Given the description of an element on the screen output the (x, y) to click on. 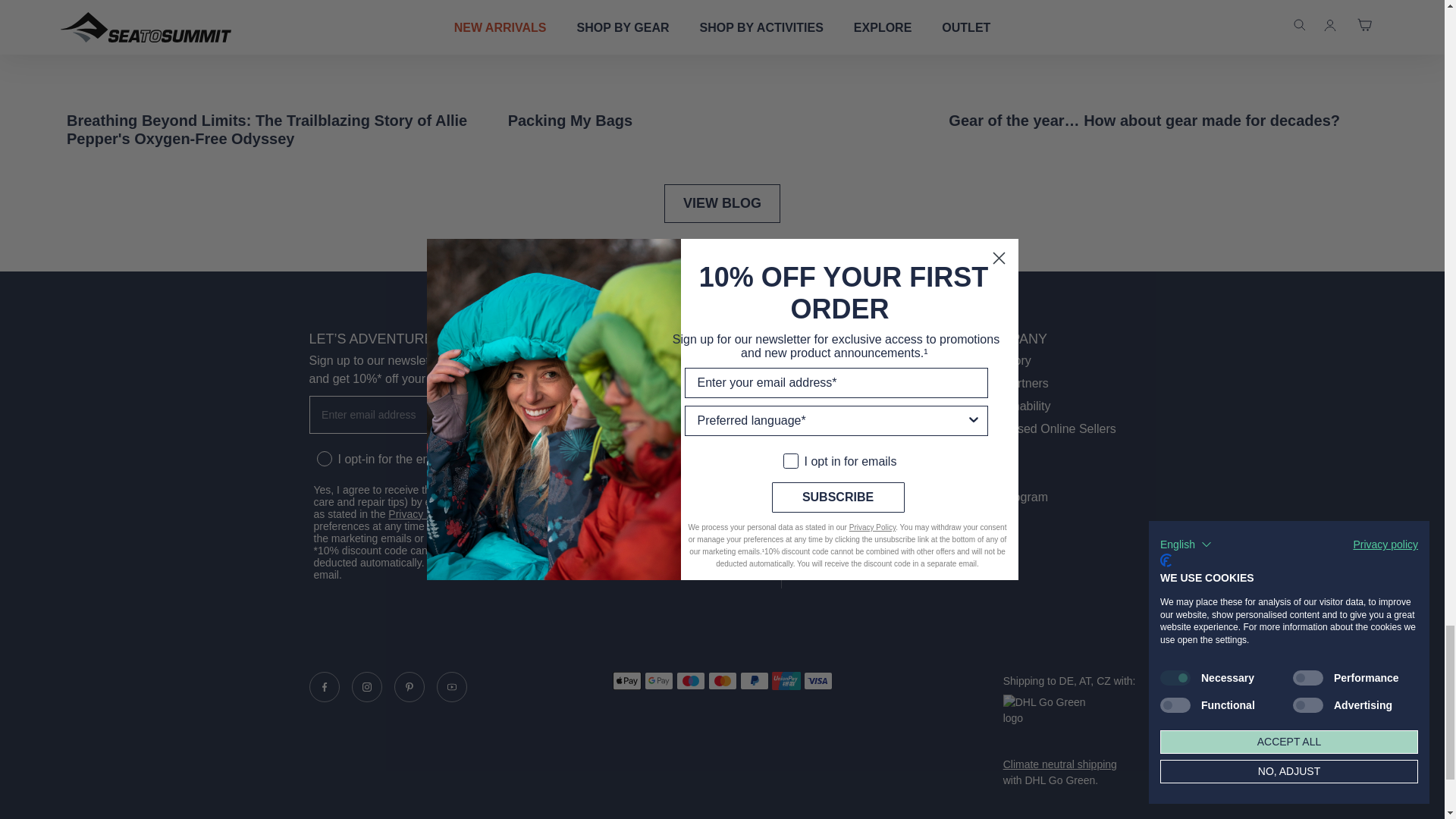
on (321, 446)
